Given the description of an element on the screen output the (x, y) to click on. 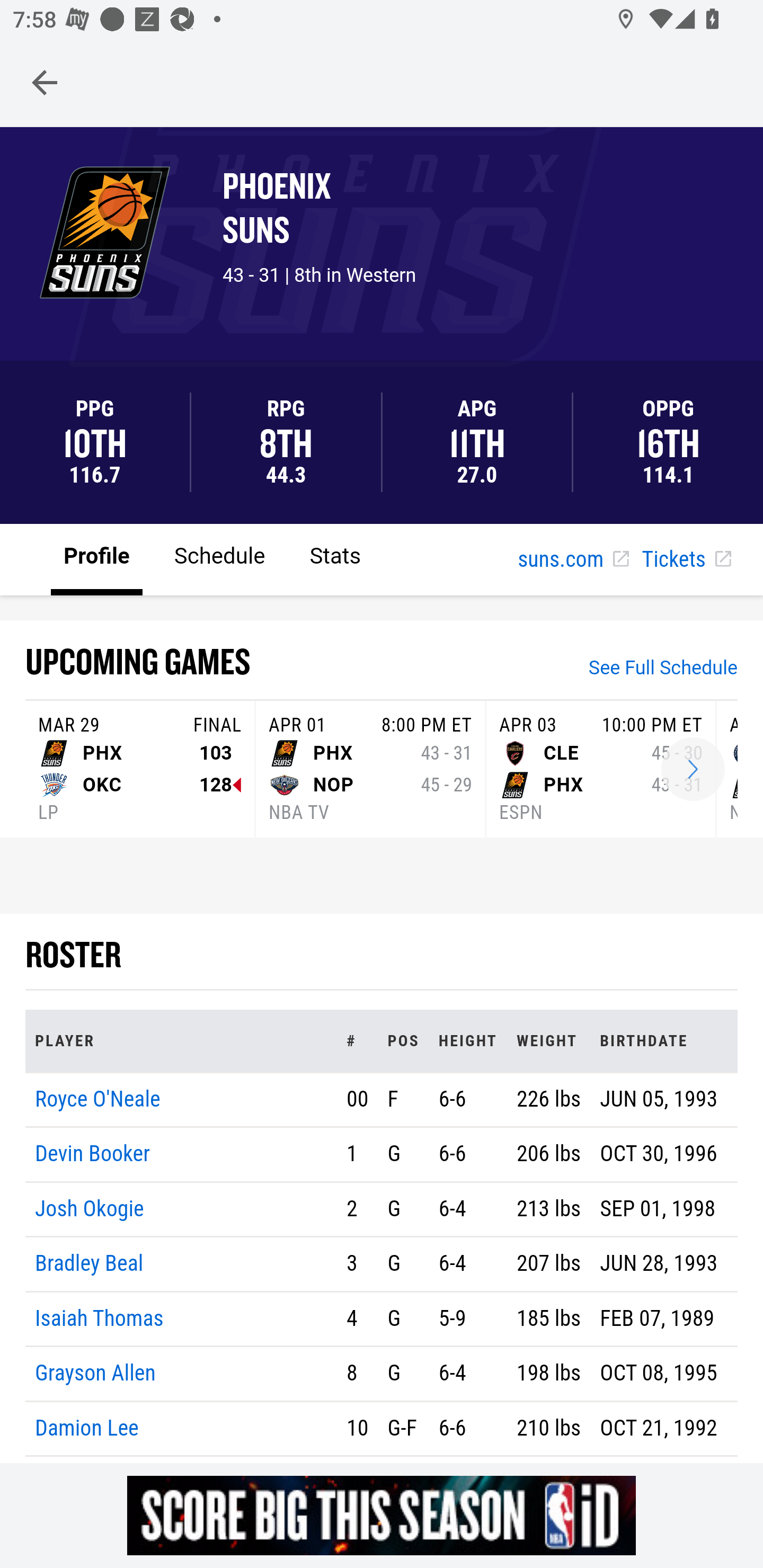
Navigate up (44, 82)
Profile (97, 558)
Schedule (219, 558)
Stats (335, 558)
suns.com (572, 560)
Tickets (685, 560)
See Full Schedule (662, 669)
Match-up Scores (692, 769)
Royce O'Neale (97, 1098)
Devin Booker (93, 1154)
Josh Okogie (89, 1207)
Bradley Beal (89, 1264)
Isaiah Thomas (99, 1317)
Grayson Allen (95, 1374)
Damion Lee (87, 1427)
g5nqqygr7owph (381, 1515)
